Given the description of an element on the screen output the (x, y) to click on. 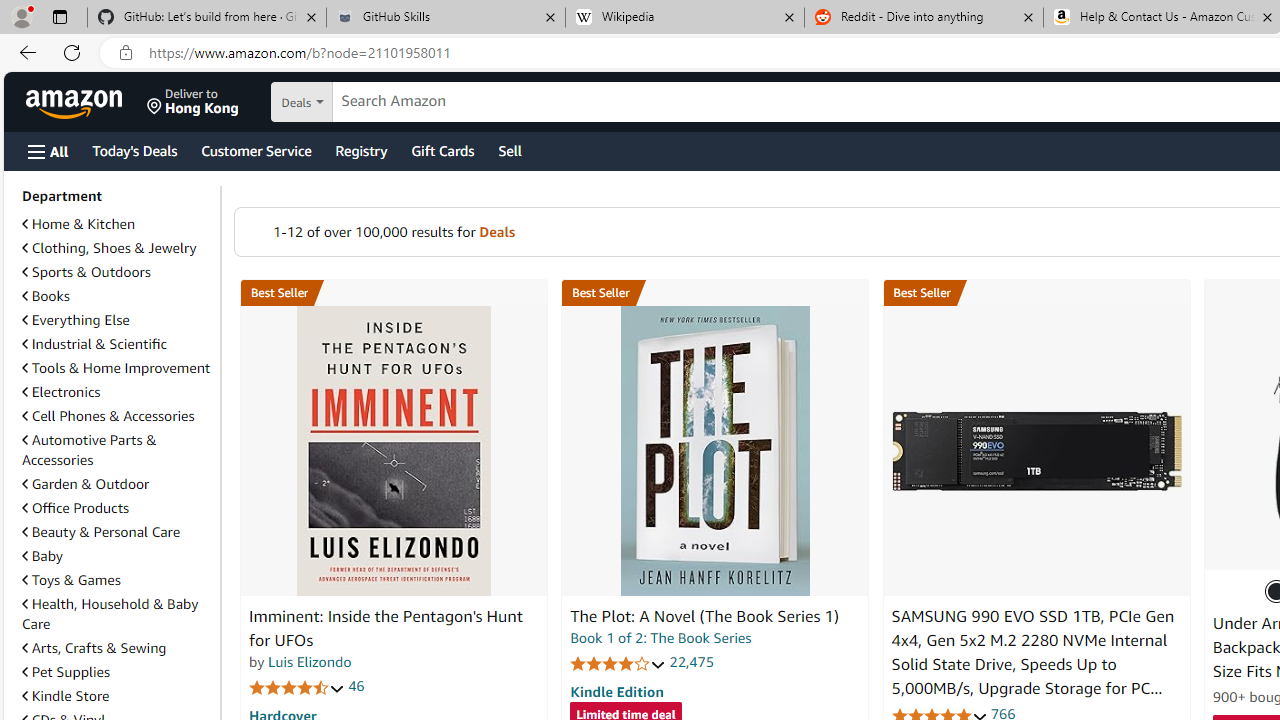
Registry (360, 150)
Gift Cards (442, 150)
Book 1 of 2: The Book Series (660, 638)
Toys & Games (117, 579)
Wikipedia (684, 17)
The Plot: A Novel (The Book Series 1) (703, 616)
Reddit - Dive into anything (924, 17)
Industrial & Scientific (94, 343)
Amazon (76, 101)
Pet Supplies (65, 672)
Garden & Outdoor (117, 483)
Arts, Crafts & Sewing (117, 647)
Toys & Games (71, 579)
